Given the description of an element on the screen output the (x, y) to click on. 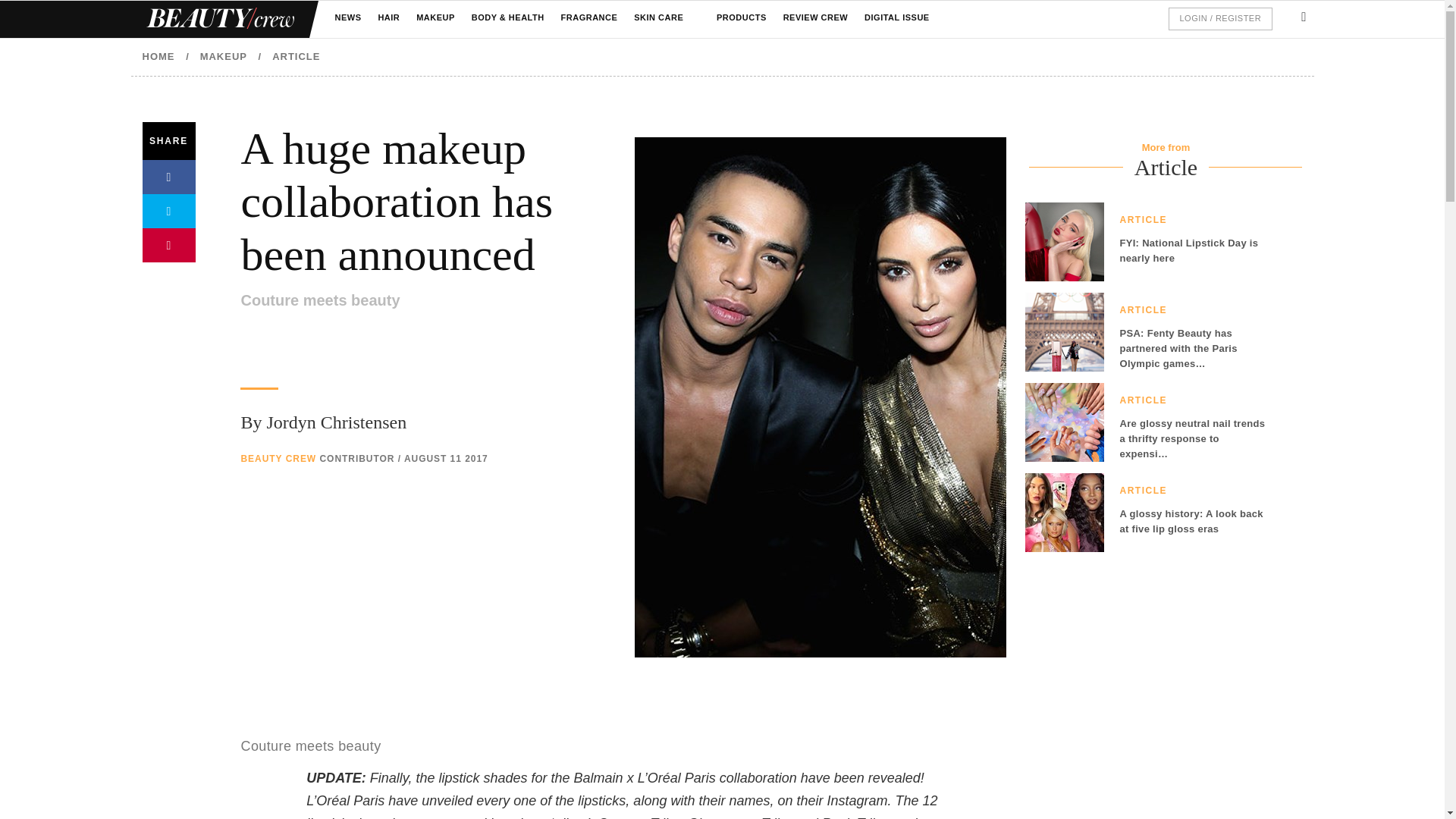
Home (218, 18)
NEWS (347, 18)
HAIR (387, 18)
MAKEUP (435, 18)
